Given the description of an element on the screen output the (x, y) to click on. 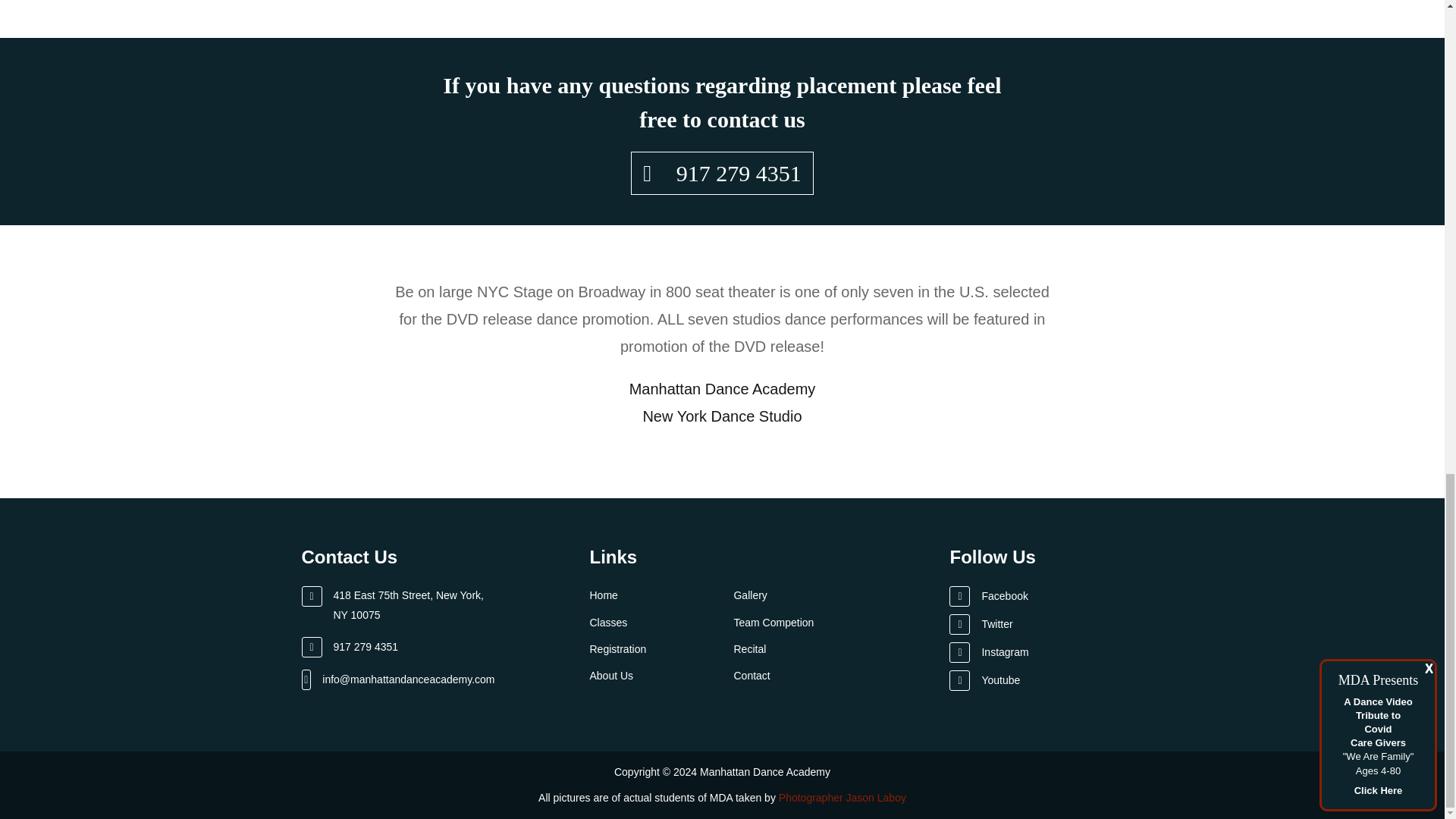
Recital (749, 648)
About Us (611, 675)
Twitter (1045, 624)
Classes (608, 622)
917 279 4351 (721, 172)
Home (603, 594)
Facebook (1045, 596)
Contact (751, 675)
Team Competion (773, 622)
Registration (617, 648)
